Given the description of an element on the screen output the (x, y) to click on. 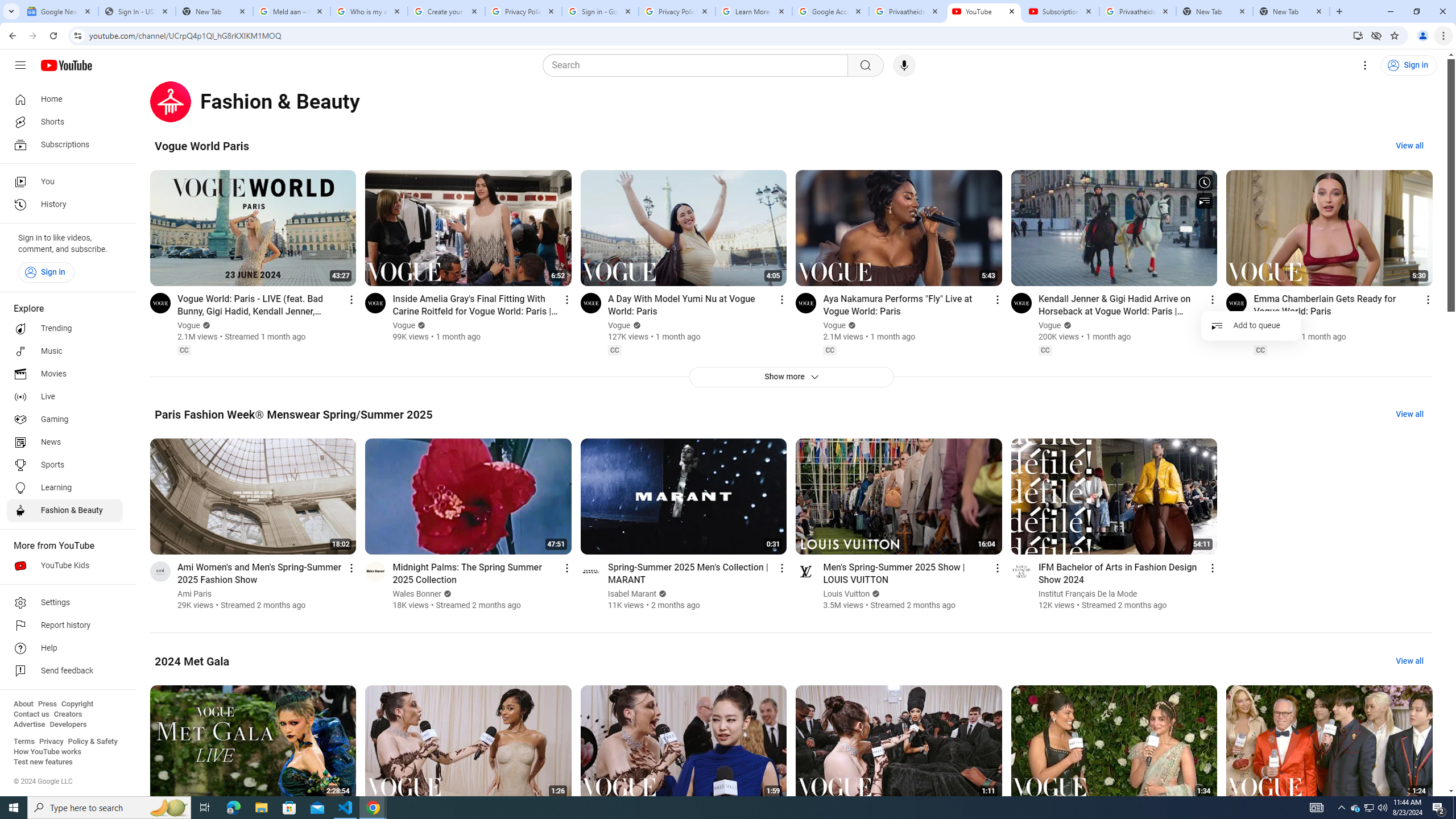
Google Account (830, 11)
Action menu (1212, 567)
2024 Met Gala (192, 660)
YouTube (983, 11)
Subscriptions (64, 144)
Create your Google Account (446, 11)
Show more (790, 376)
Terms (23, 741)
News (64, 441)
Trending (64, 328)
Louis Vuitton (846, 594)
Google News (59, 11)
